Given the description of an element on the screen output the (x, y) to click on. 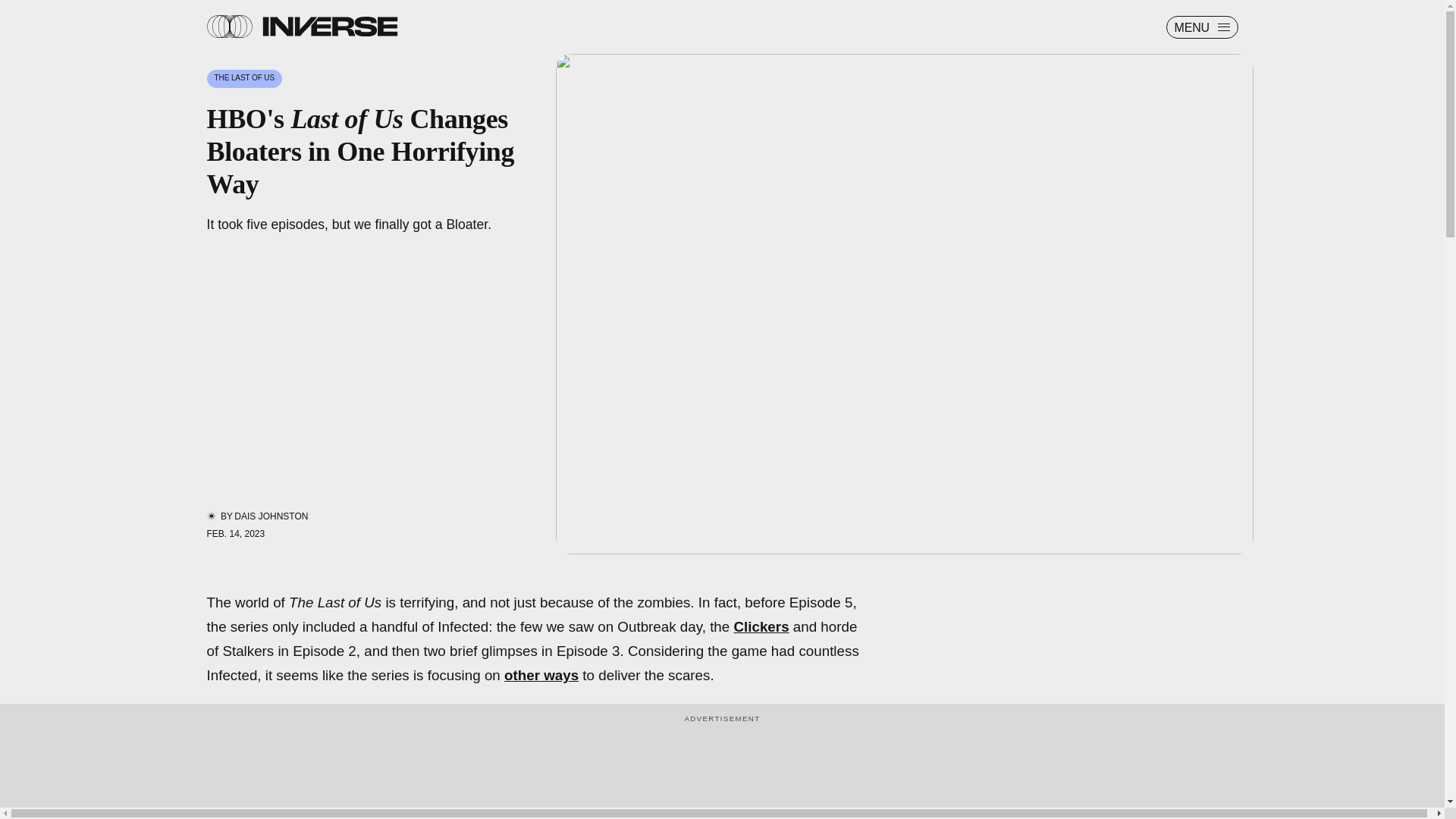
other ways (540, 675)
DAIS JOHNSTON (270, 515)
Inverse (328, 26)
Clickers (761, 626)
